Given the description of an element on the screen output the (x, y) to click on. 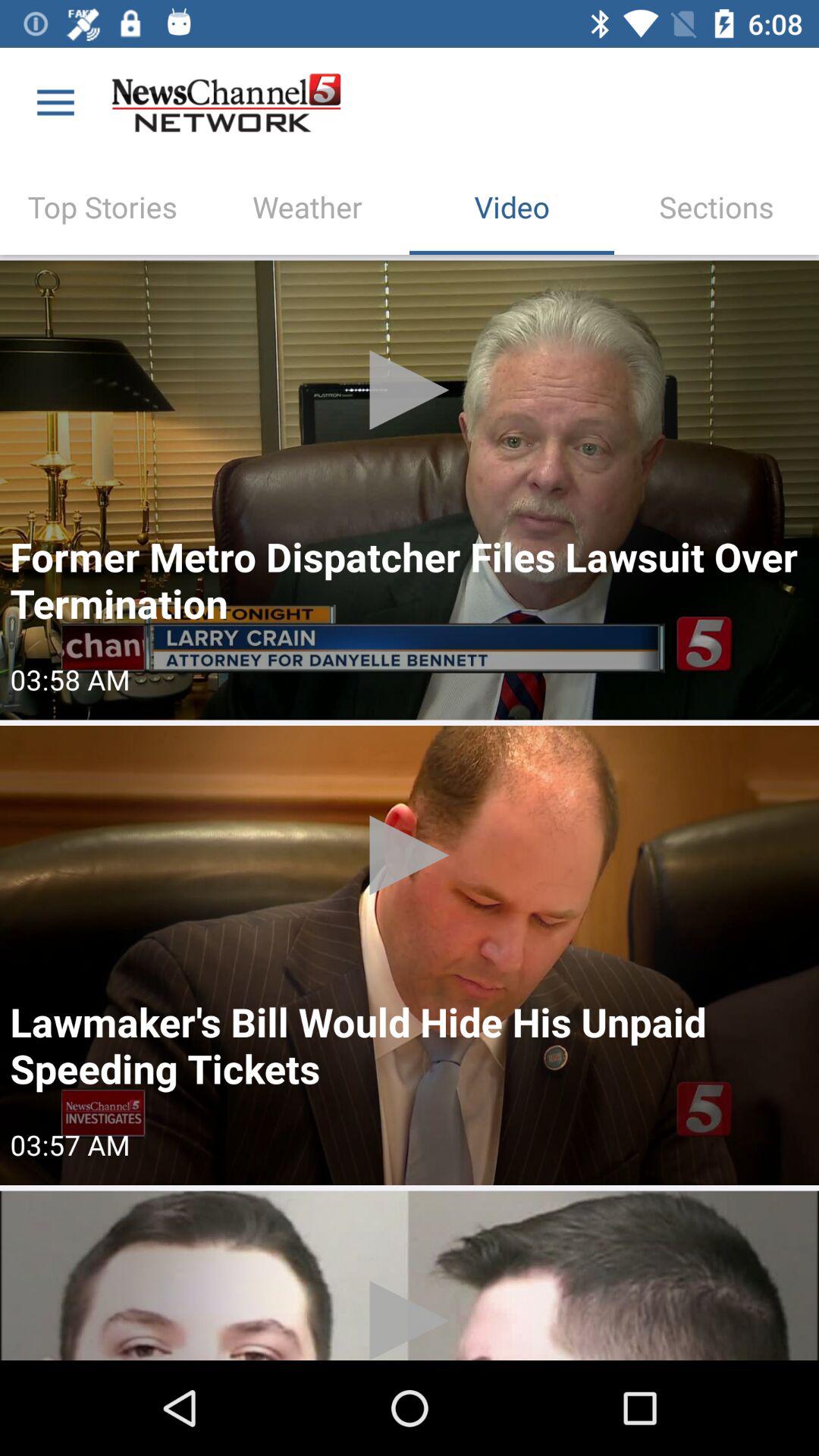
choose item above top stories icon (55, 103)
